Given the description of an element on the screen output the (x, y) to click on. 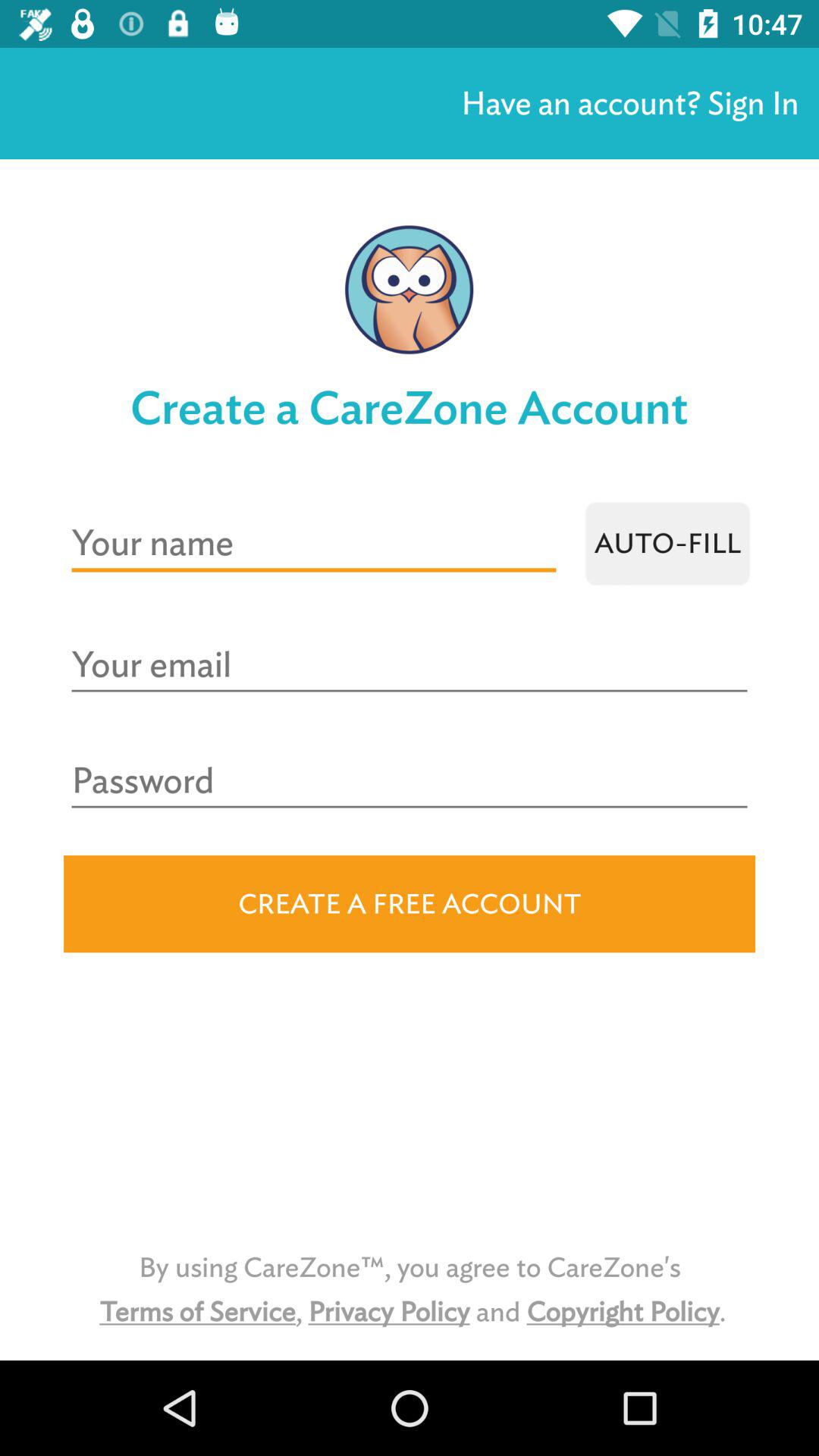
type name (313, 543)
